Given the description of an element on the screen output the (x, y) to click on. 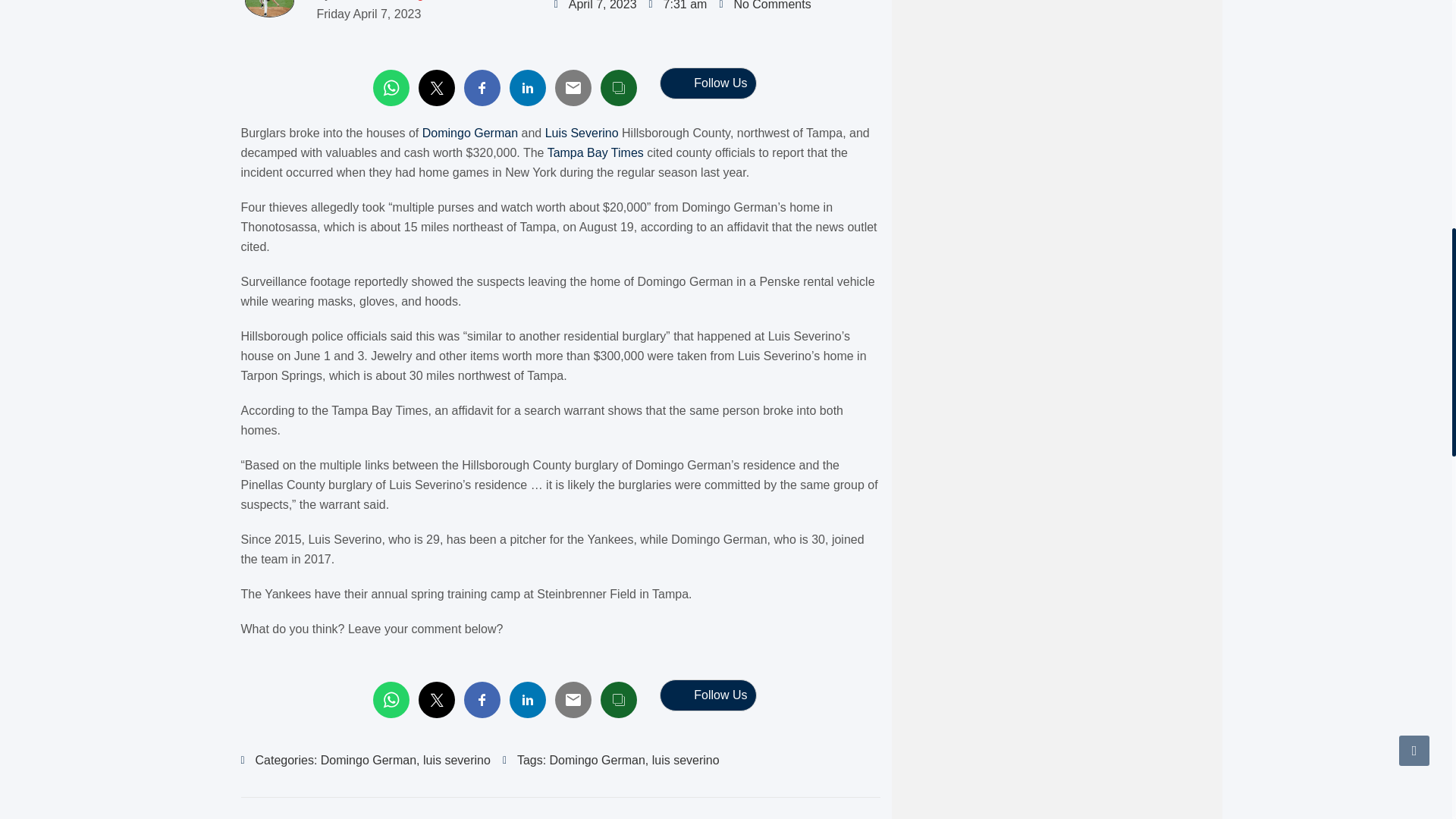
No Comments (764, 7)
April 7, 2023 (595, 7)
